Given the description of an element on the screen output the (x, y) to click on. 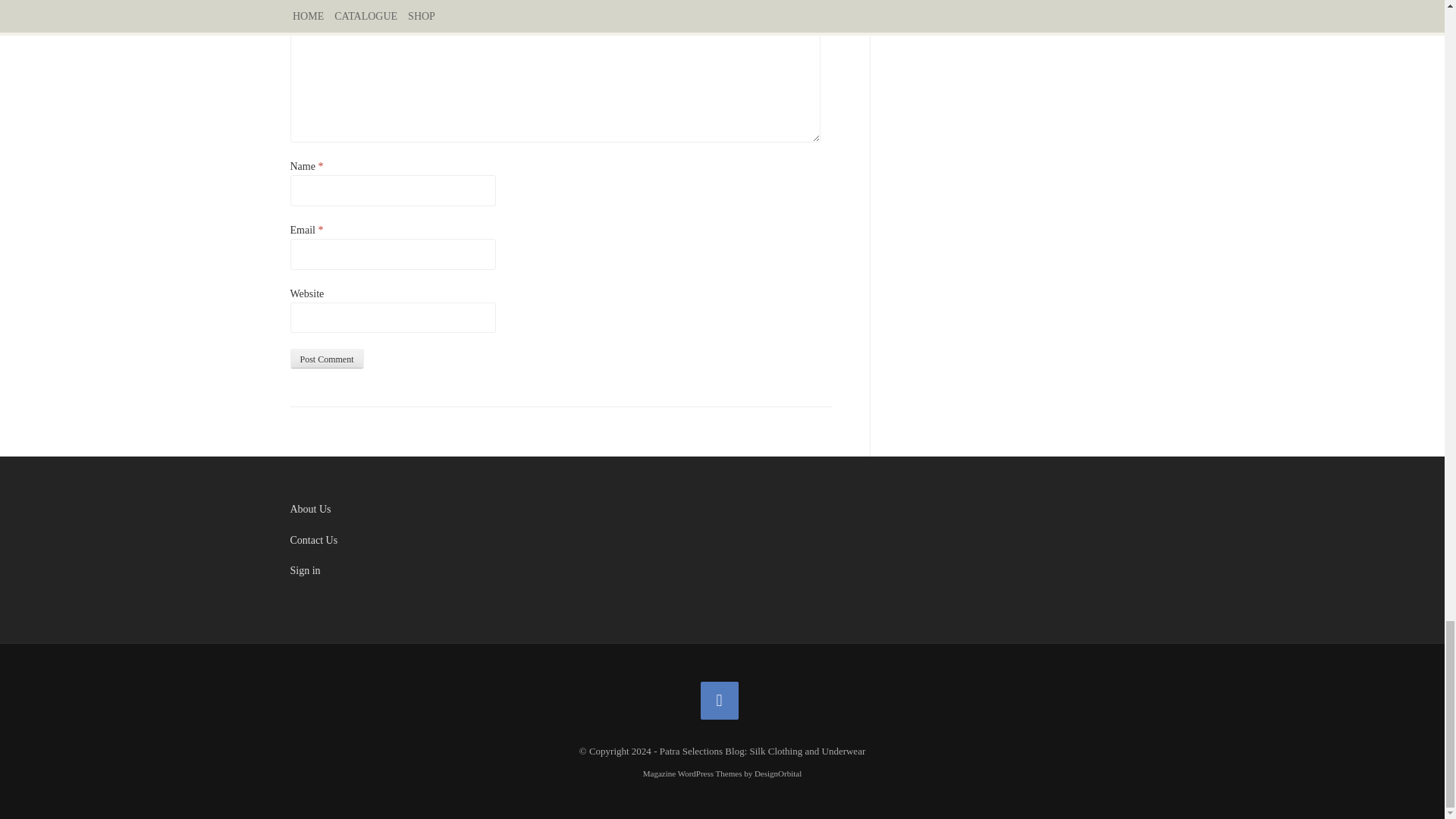
Post Comment (325, 358)
Post Comment (325, 358)
